Given the description of an element on the screen output the (x, y) to click on. 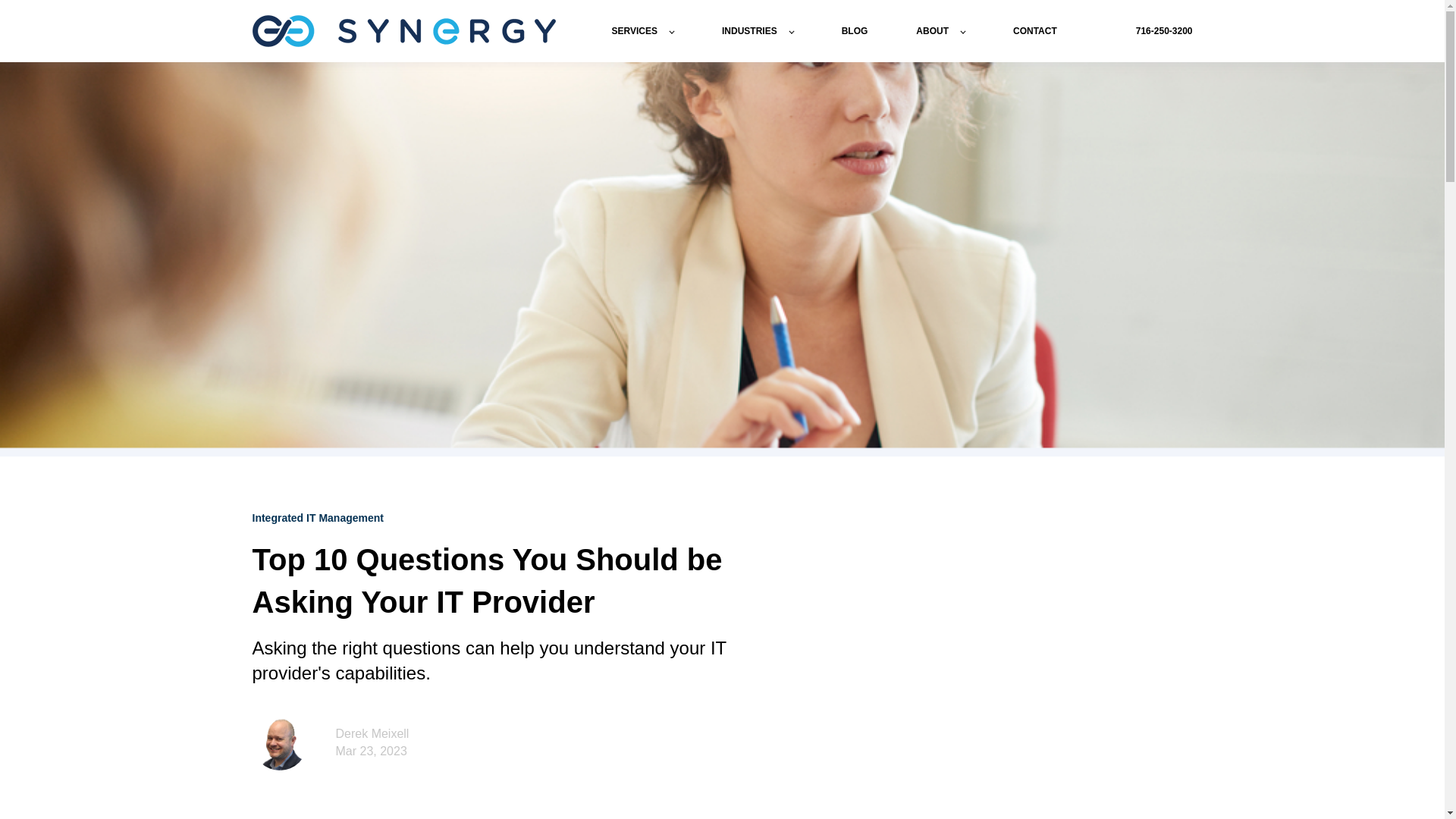
CONTACT (1035, 30)
ABOUT (939, 30)
Derek Meixell (371, 733)
INDUSTRIES (757, 30)
SERVICES (641, 30)
716-250-3200 (1163, 30)
